Given the description of an element on the screen output the (x, y) to click on. 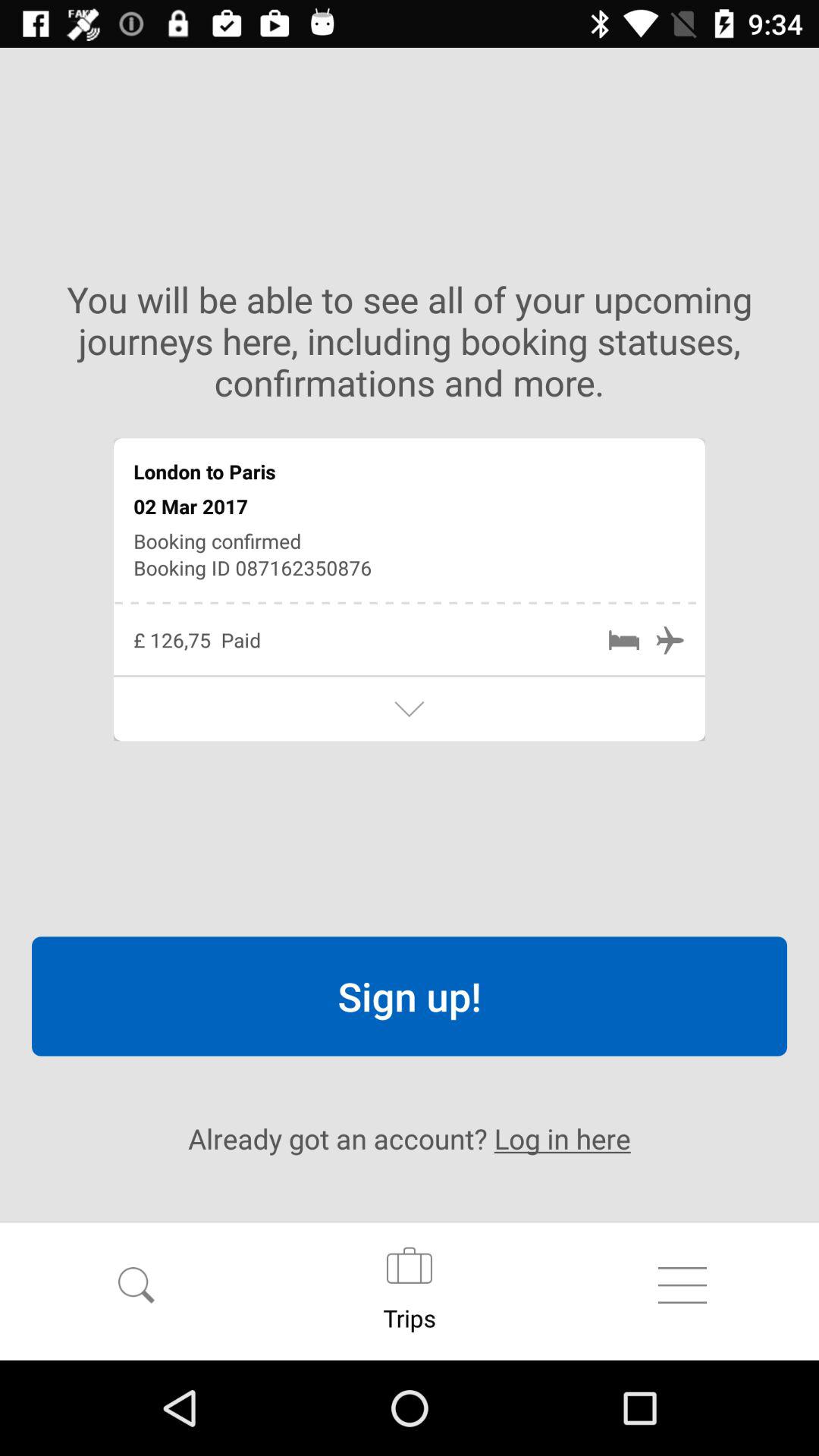
turn on item below sign up! icon (409, 1138)
